Given the description of an element on the screen output the (x, y) to click on. 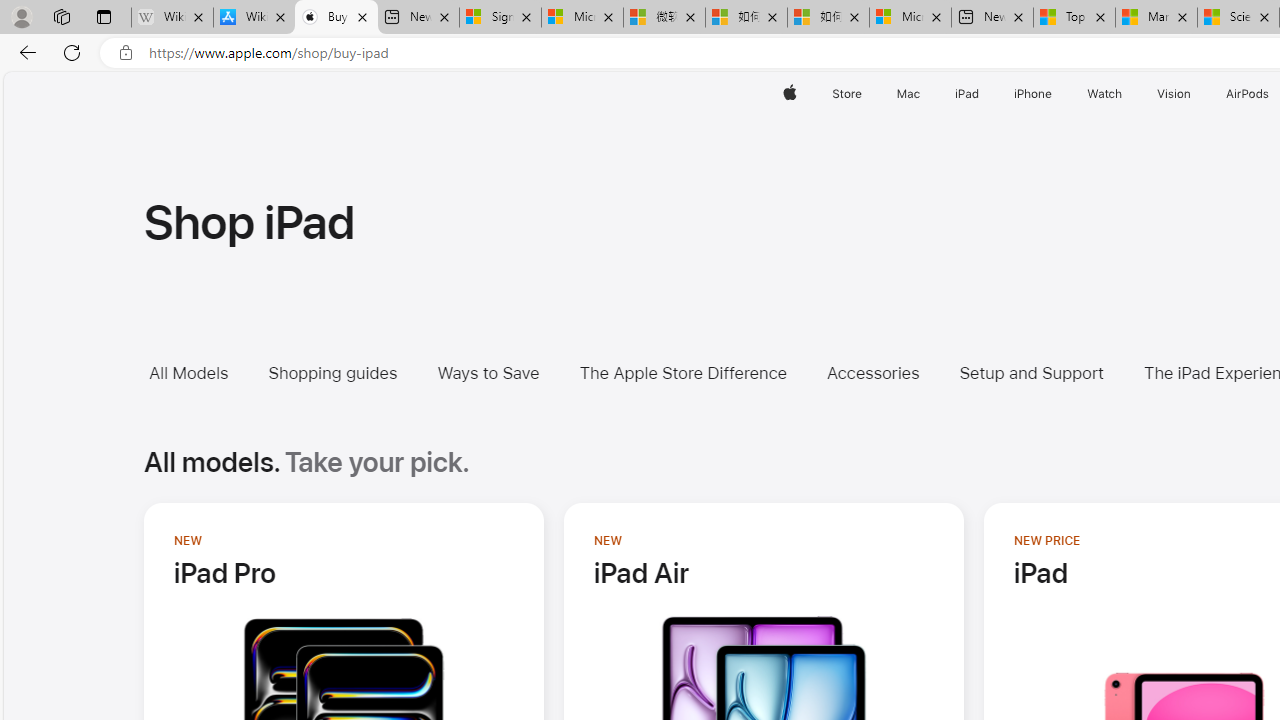
Marine life - MSN (1156, 17)
Ways to Save (503, 372)
Shopping guides (332, 372)
Class: globalnav-submenu-trigger-item (1195, 93)
Watch (1105, 93)
Vision (1174, 93)
Setup and Support (1046, 372)
Vision (1174, 93)
